Given the description of an element on the screen output the (x, y) to click on. 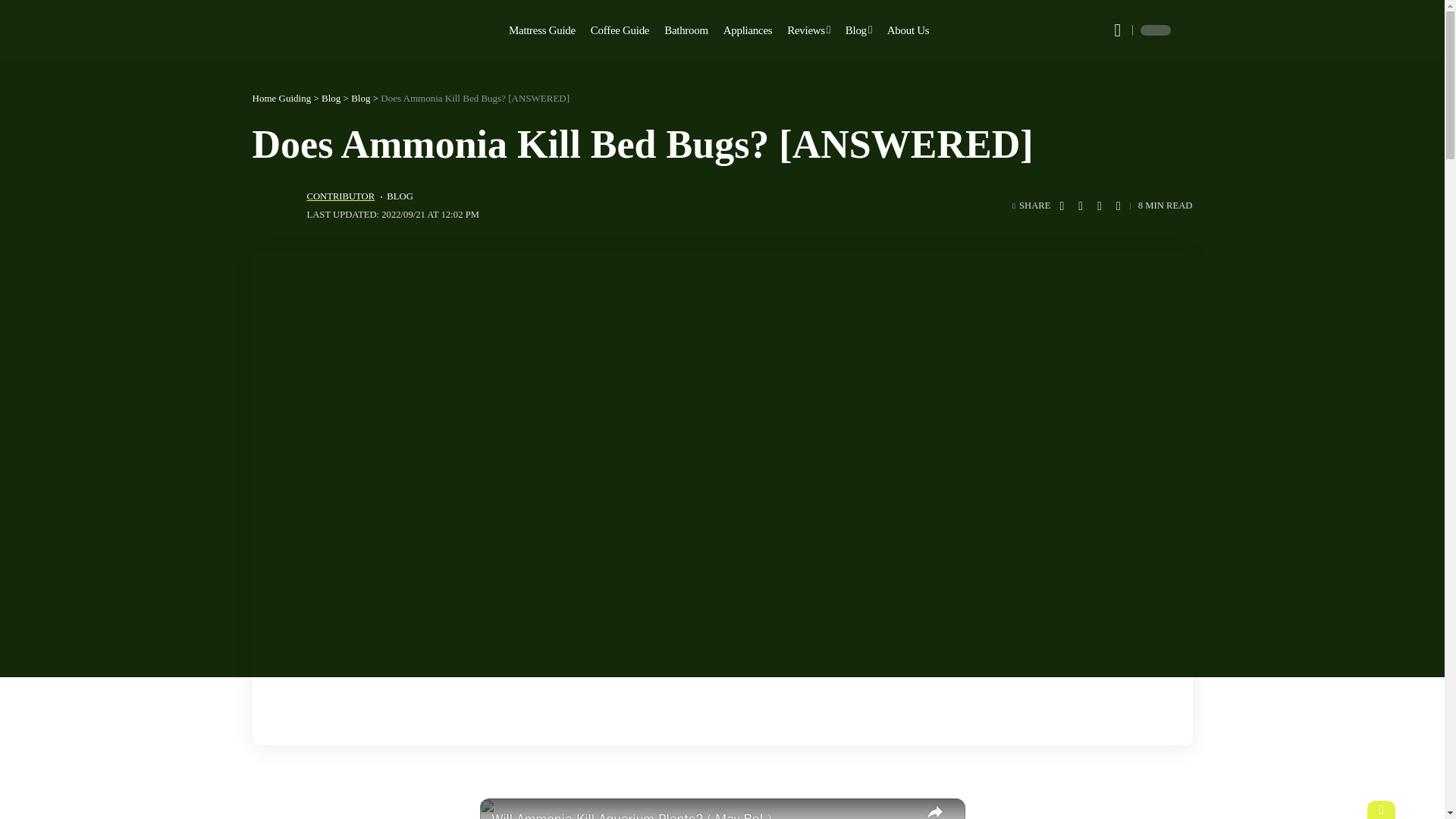
Go to Blog. (330, 98)
Mattress Guide (541, 30)
Go to the Blog Category archives. (359, 98)
Bathroom (686, 30)
Appliances (747, 30)
Reviews (808, 30)
Go to Home Guiding. (281, 98)
Coffee Guide (619, 30)
About Us (908, 30)
share (933, 808)
